Given the description of an element on the screen output the (x, y) to click on. 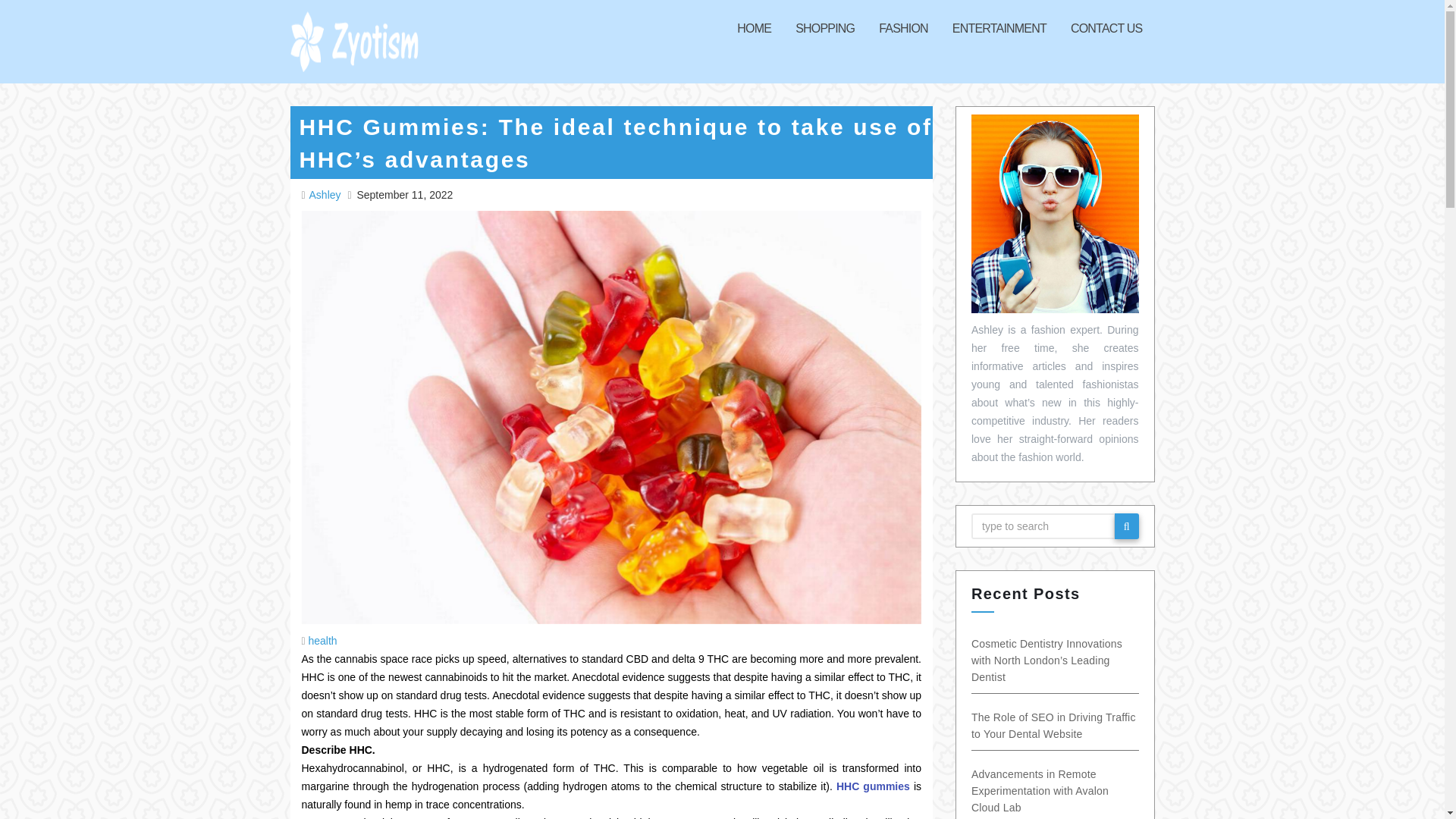
HOME (754, 28)
Shopping (824, 28)
health (322, 640)
Home (754, 28)
Entertainment (999, 28)
The Role of SEO in Driving Traffic to Your Dental Website (1072, 725)
Fashion (903, 28)
ENTERTAINMENT (999, 28)
CONTACT US (1106, 28)
Ashley (326, 194)
